Given the description of an element on the screen output the (x, y) to click on. 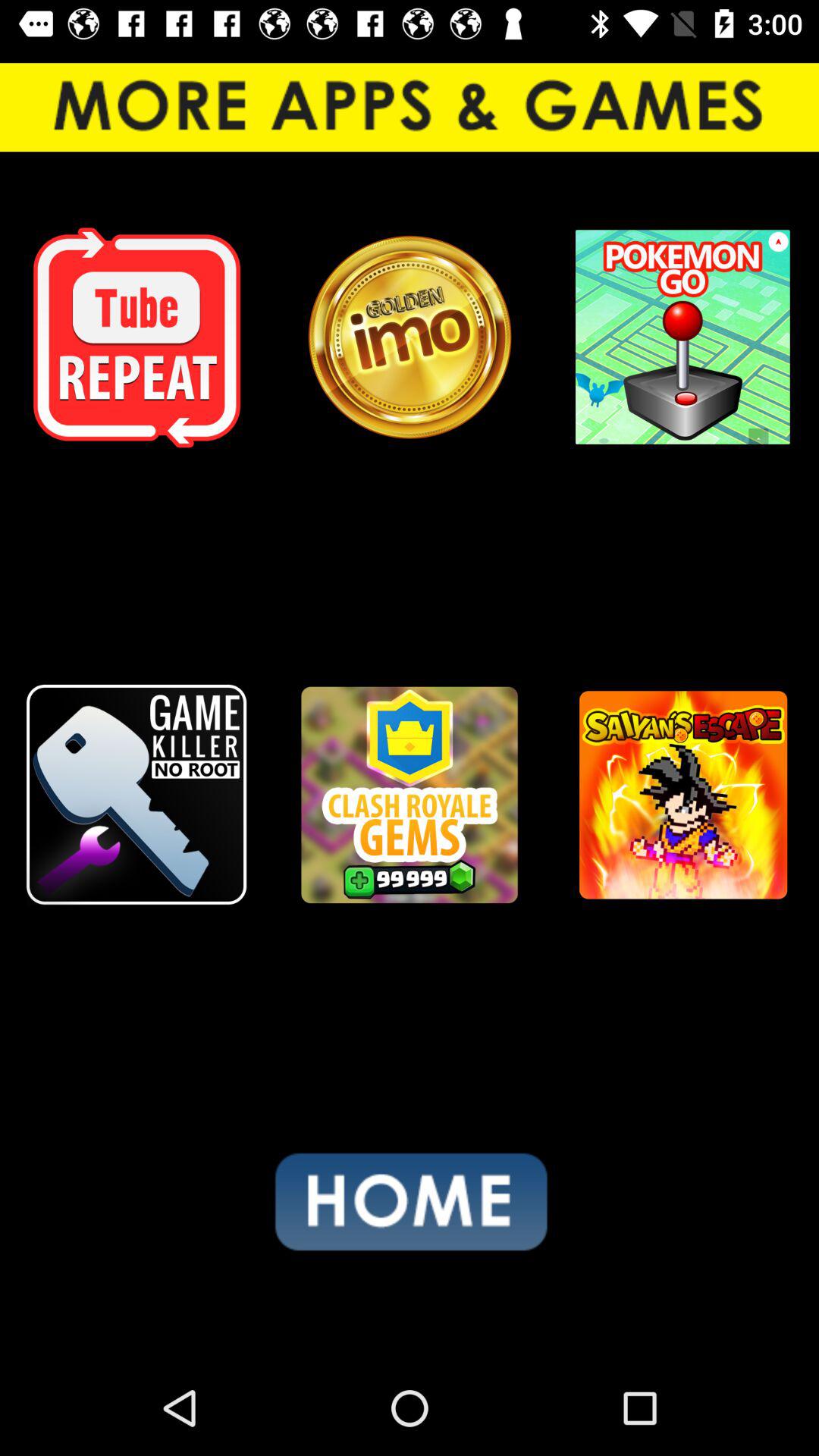
game killer (136, 794)
